Given the description of an element on the screen output the (x, y) to click on. 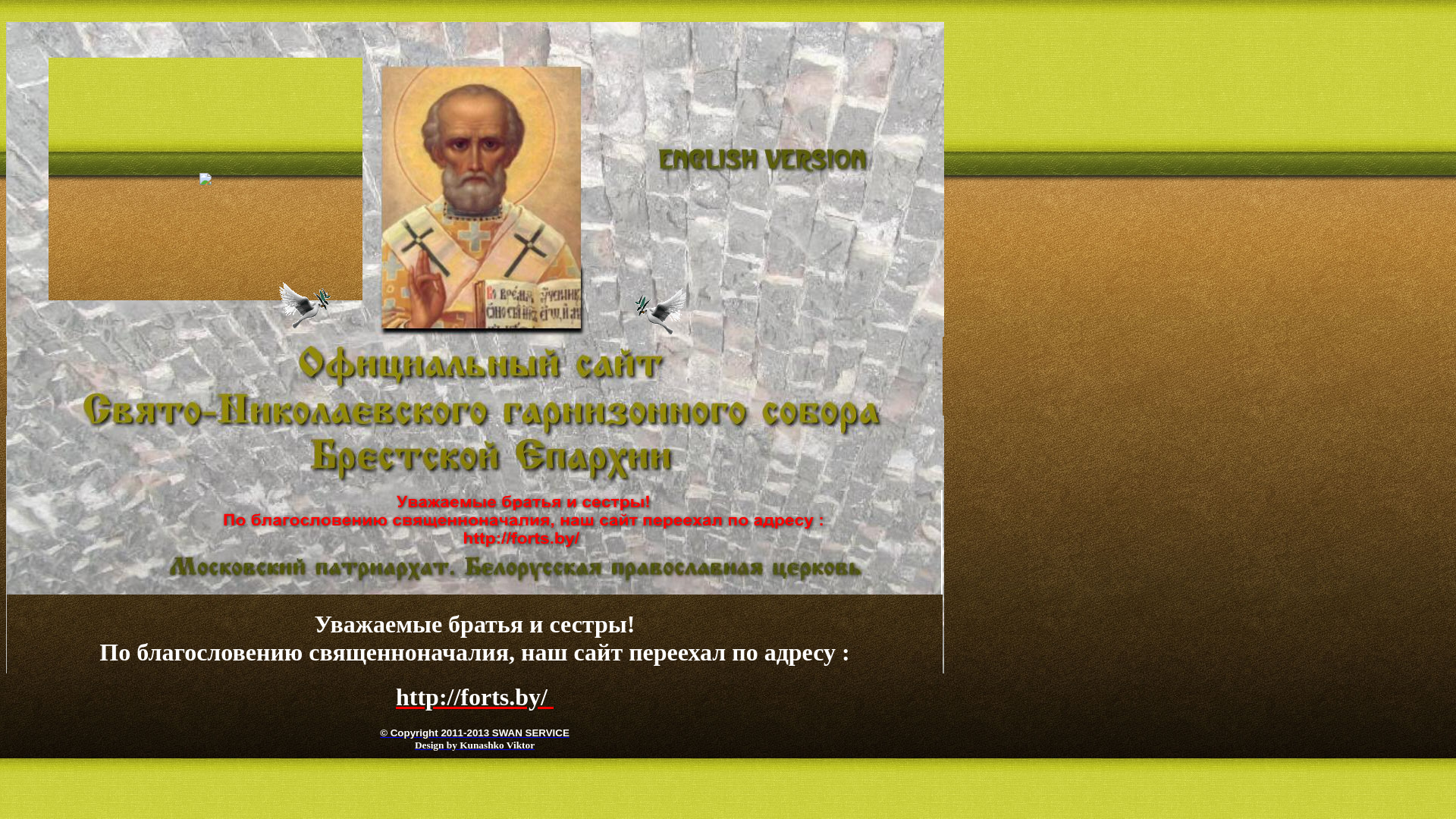
http://forts.by/  Element type: text (474, 696)
Design by Kunashko Viktor Element type: text (474, 744)
